Given the description of an element on the screen output the (x, y) to click on. 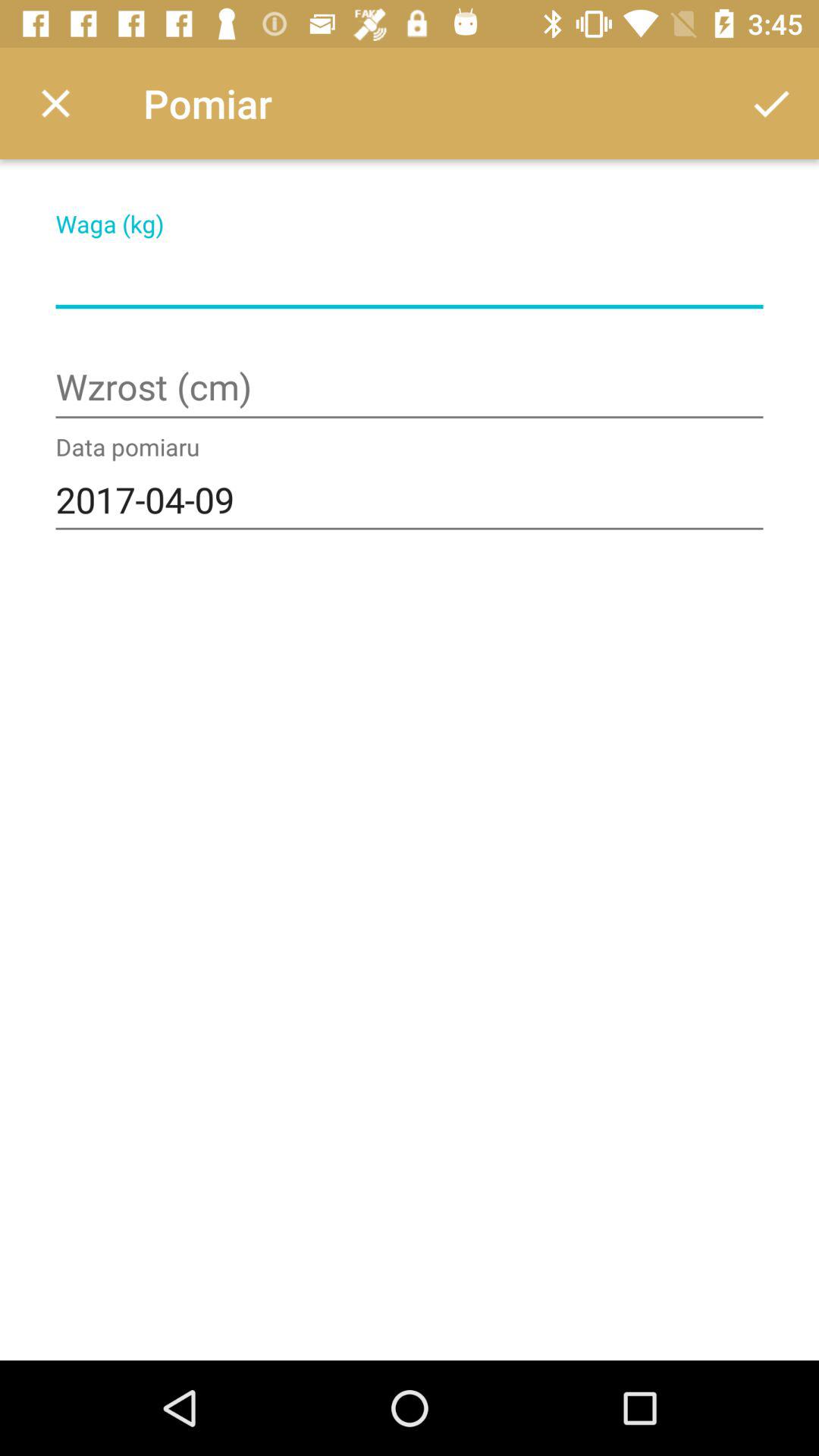
enter cm (409, 388)
